Given the description of an element on the screen output the (x, y) to click on. 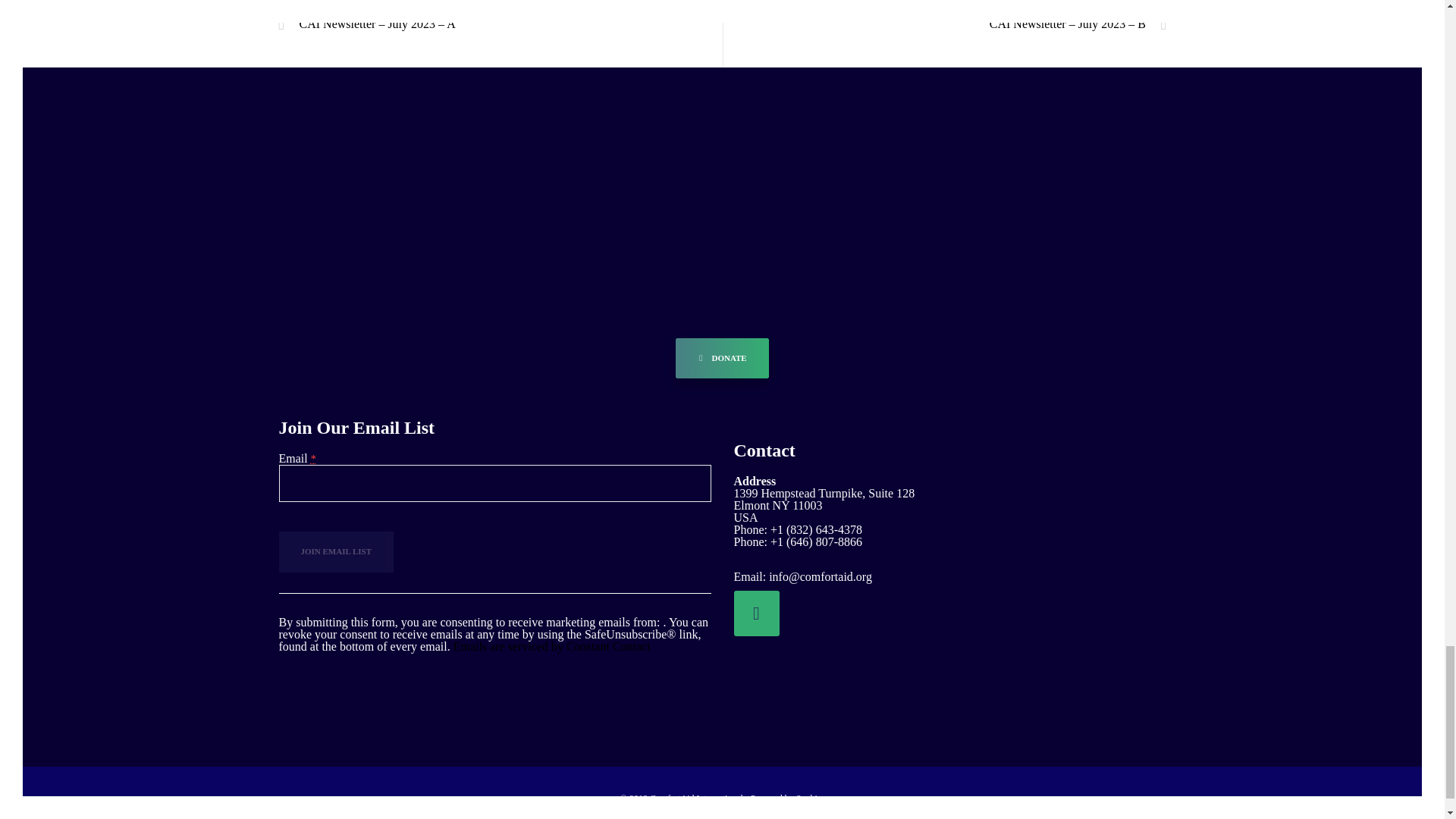
Join Email List (336, 551)
required (313, 458)
Join Email List (336, 551)
DONATE (721, 358)
Emails are serviced by Constant Contact (551, 645)
